Given the description of an element on the screen output the (x, y) to click on. 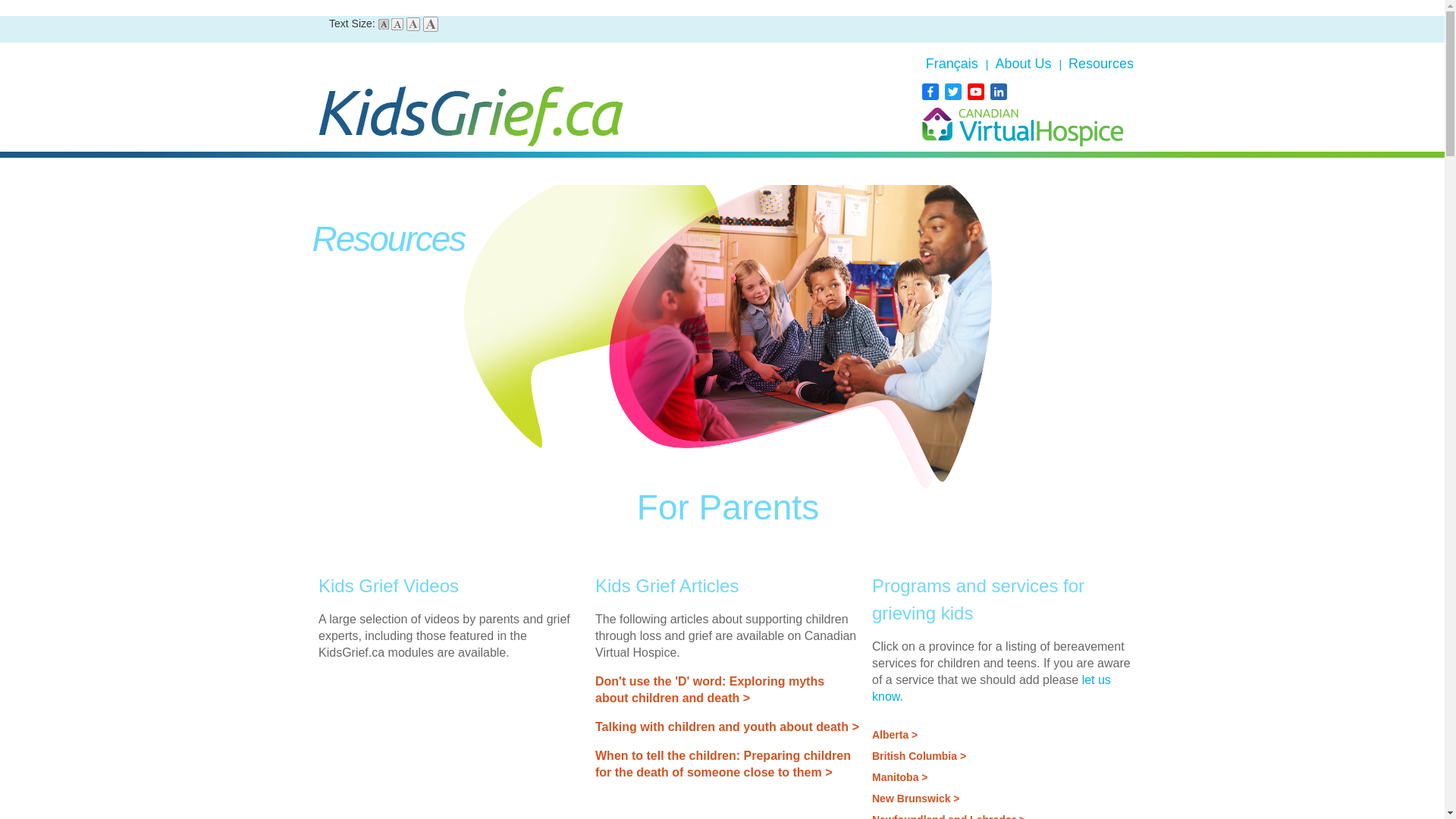
let us know. (991, 687)
About Us (1024, 63)
Resources (1100, 63)
